Given the description of an element on the screen output the (x, y) to click on. 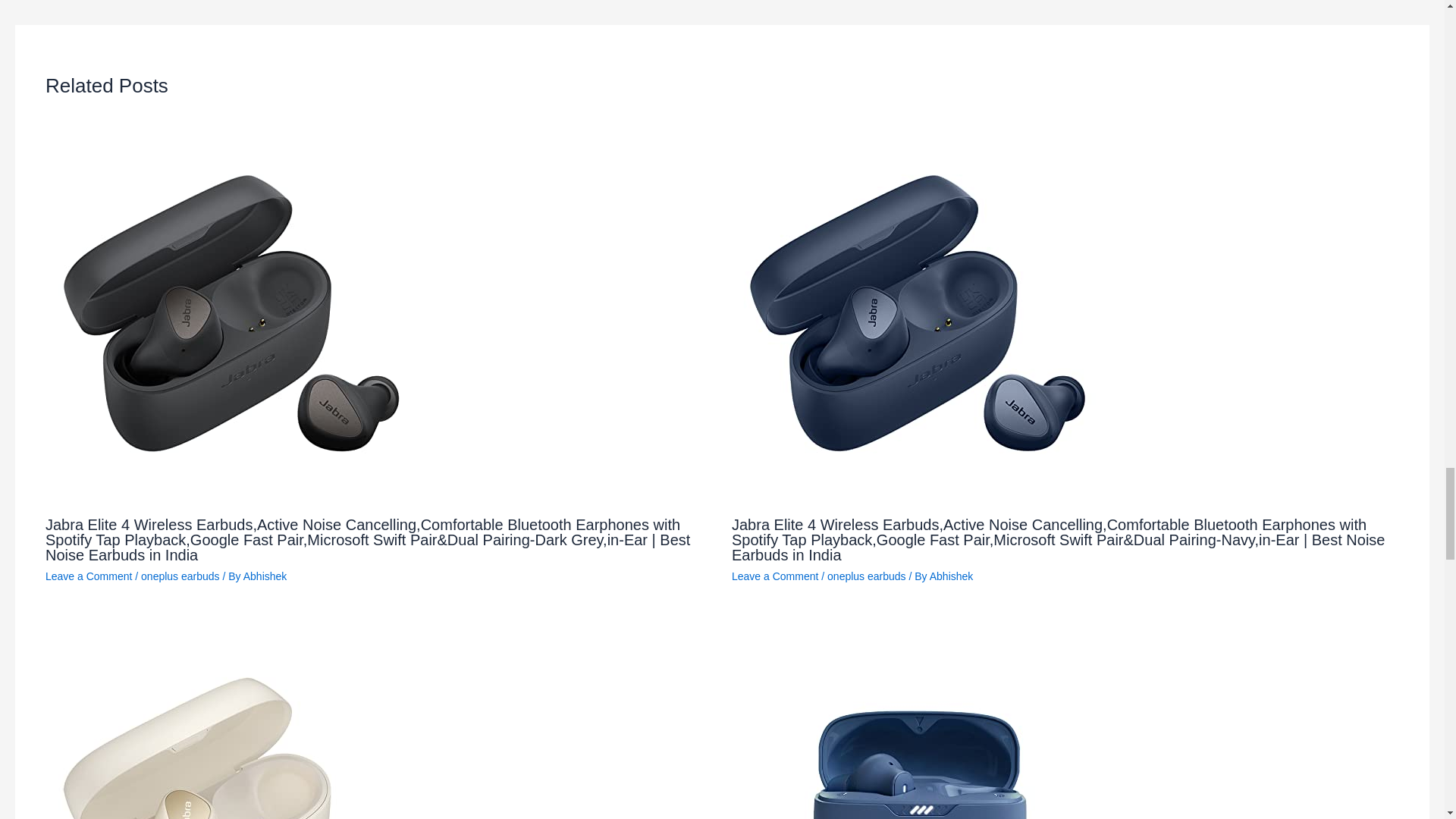
Abhishek (264, 576)
oneplus earbuds (866, 576)
oneplus earbuds (180, 576)
Leave a Comment (775, 576)
Leave a Comment (88, 576)
View all posts by Abhishek (952, 576)
View all posts by Abhishek (264, 576)
Abhishek (952, 576)
